Given the description of an element on the screen output the (x, y) to click on. 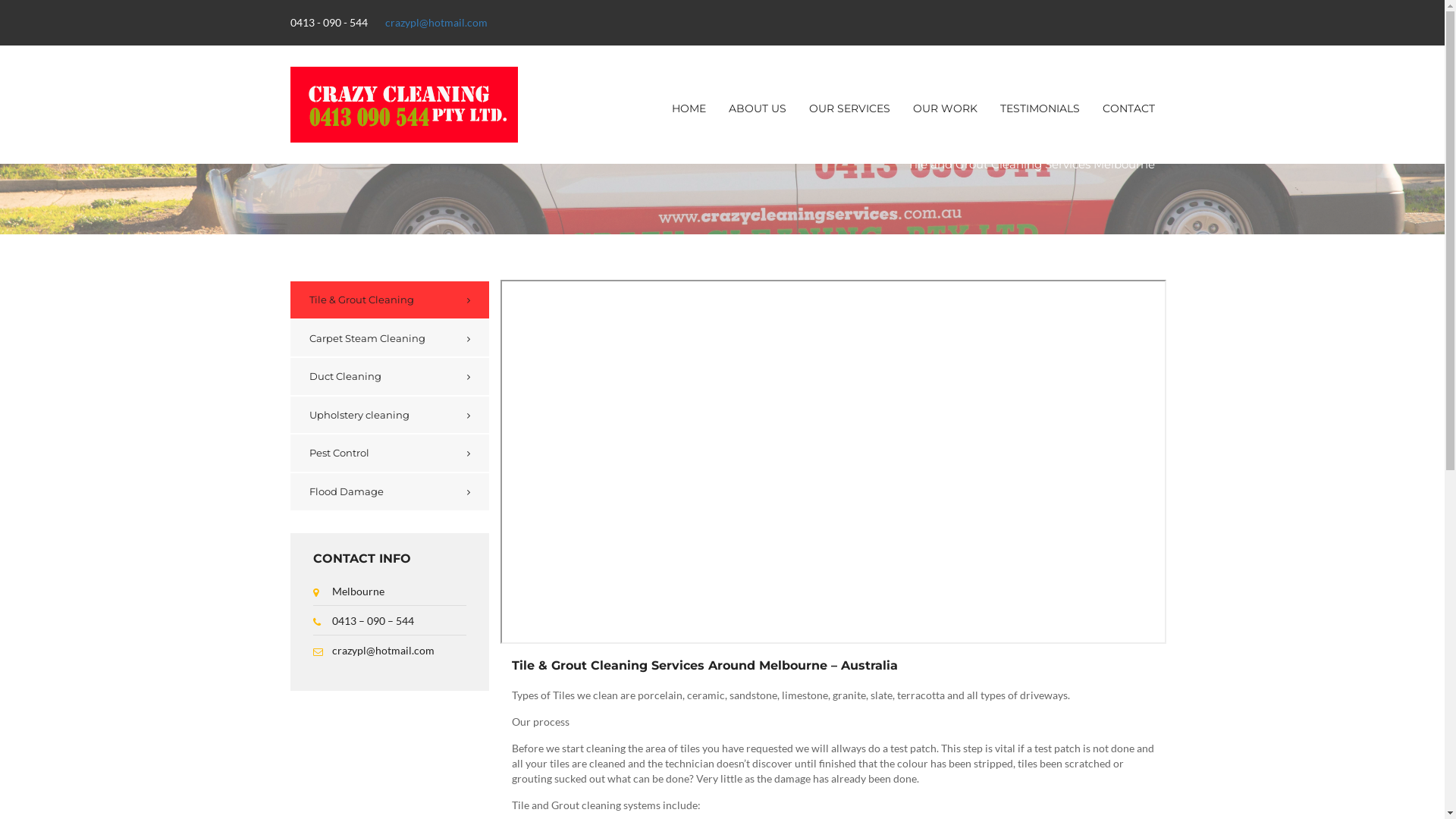
Tile and Grout Cleaning Services Melbourne Element type: text (1030, 164)
Upholstery cleaning Element type: text (389, 414)
Tile & Grout Cleaning Element type: text (389, 299)
crazypl@hotmail.com Element type: text (436, 21)
Pest Control Element type: text (389, 452)
OUR SERVICES Element type: text (849, 108)
TESTIMONIALS Element type: text (1039, 108)
CONTACT Element type: text (1127, 108)
Duct Cleaning Element type: text (389, 376)
OUR WORK Element type: text (944, 108)
ABOUT US Element type: text (757, 108)
HOME Element type: text (687, 108)
Flood Damage Element type: text (389, 491)
Carpet Steam Cleaning Element type: text (389, 338)
